Given the description of an element on the screen output the (x, y) to click on. 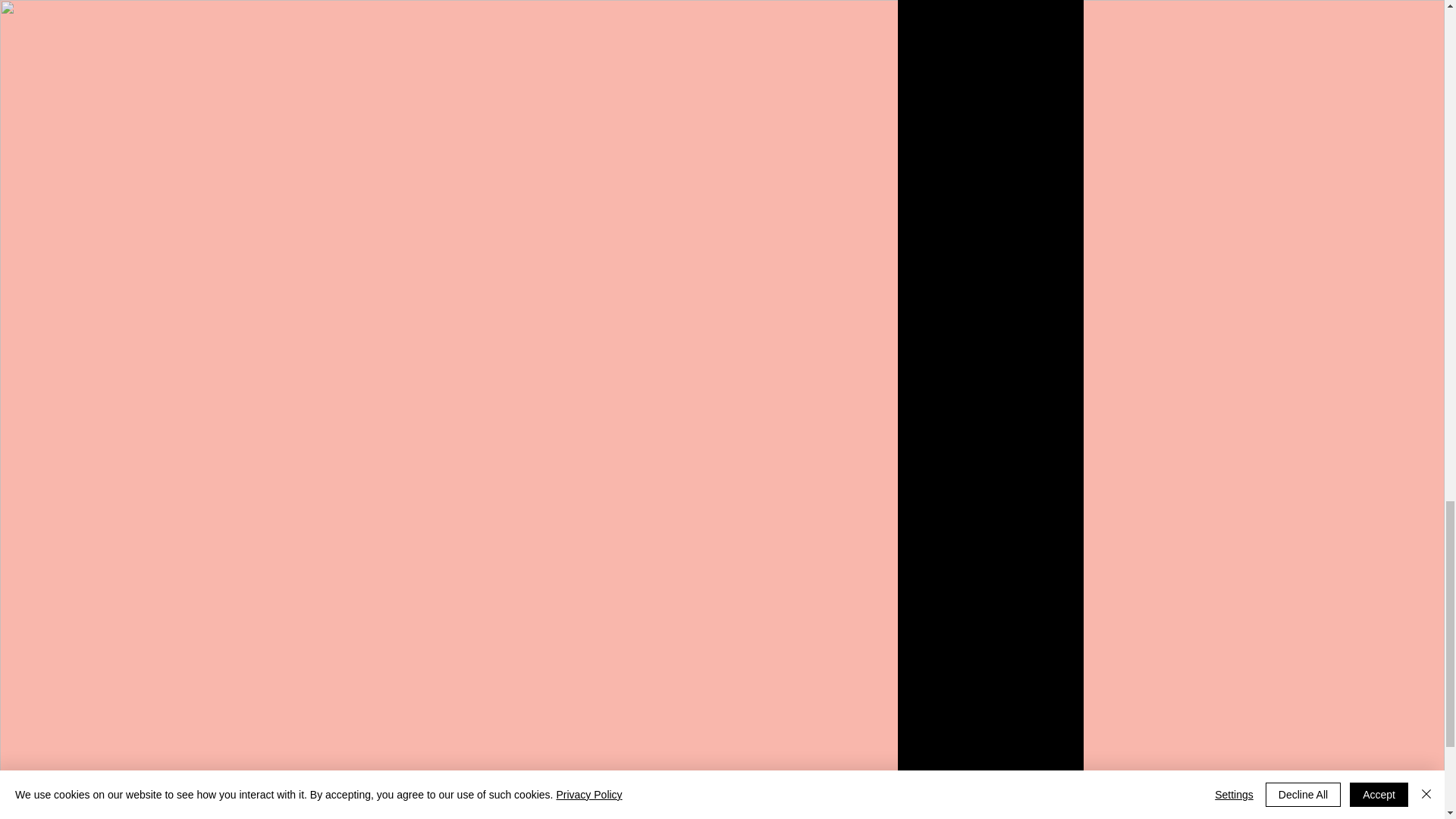
War Horse - National Theatre's UK and Ireland Tour (990, 11)
